Given the description of an element on the screen output the (x, y) to click on. 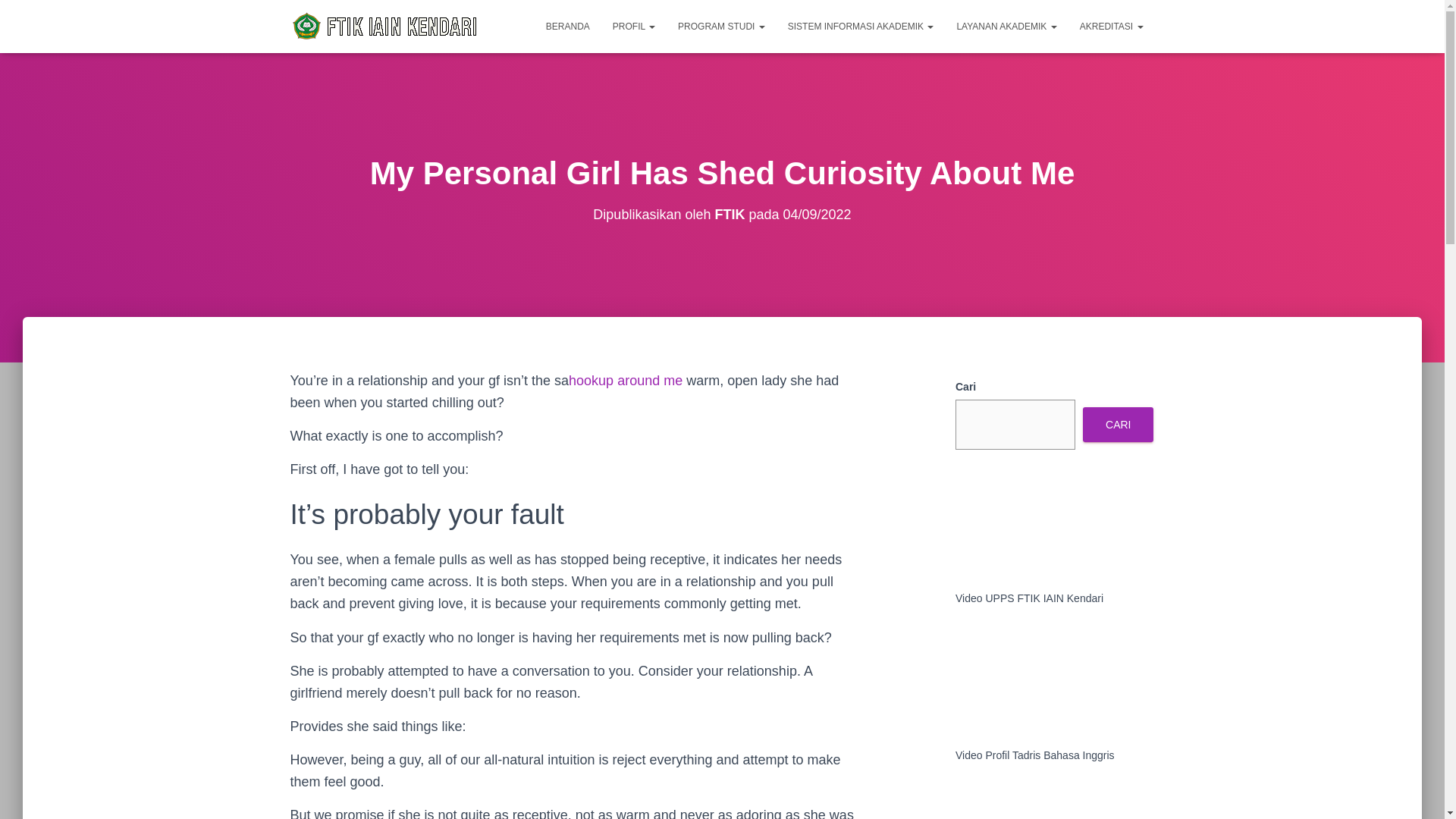
FTIK IAIN Kendari (385, 26)
PROGRAM STUDI (721, 26)
PROFIL (633, 26)
Beranda (567, 26)
PROGRAM STUDI (721, 26)
PROFIL (633, 26)
BERANDA (567, 26)
